Given the description of an element on the screen output the (x, y) to click on. 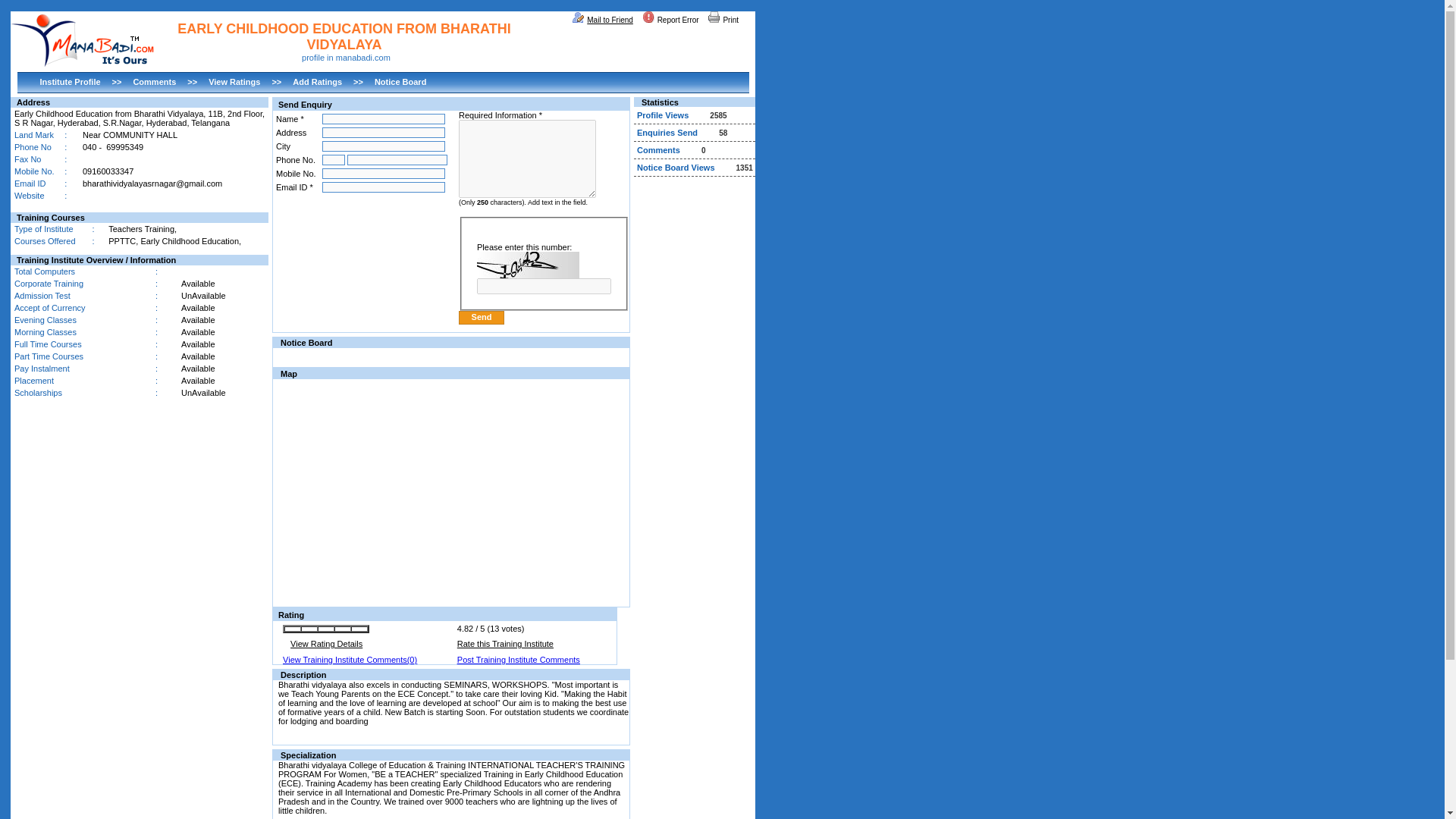
Comments (154, 81)
Post Training Institute Comments (518, 659)
Send (480, 317)
Notice Board (400, 81)
Print (723, 19)
Add Ratings (317, 81)
Rate this Training Institute (505, 643)
Institute Profile (69, 81)
View Ratings (234, 81)
Report Error (671, 19)
View Rating Details (325, 643)
Mail to Friend (603, 19)
